Given the description of an element on the screen output the (x, y) to click on. 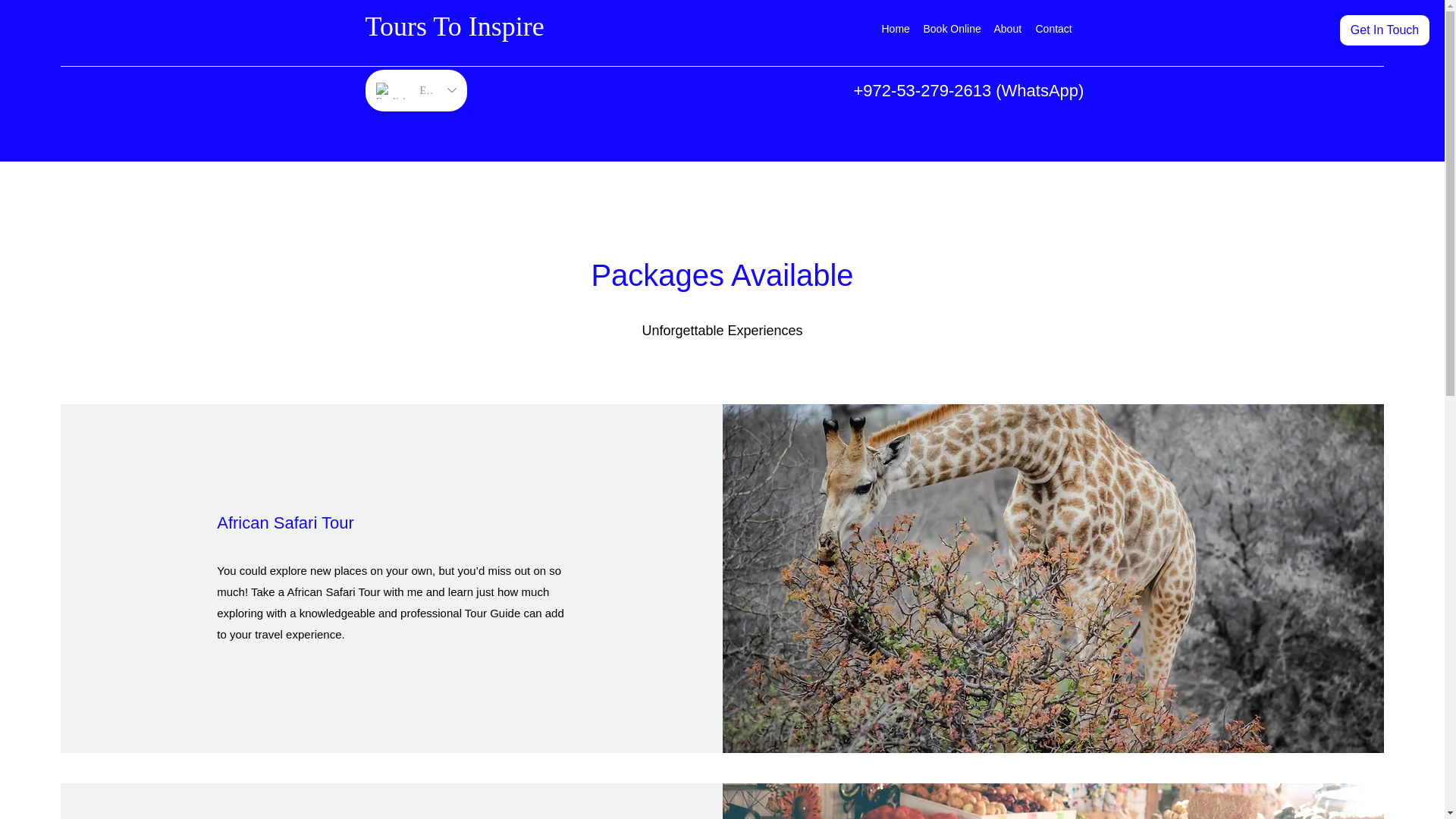
Contact (1052, 28)
Home (894, 28)
About (1006, 28)
Get In Touch (1384, 30)
Book Online (951, 28)
